Given the description of an element on the screen output the (x, y) to click on. 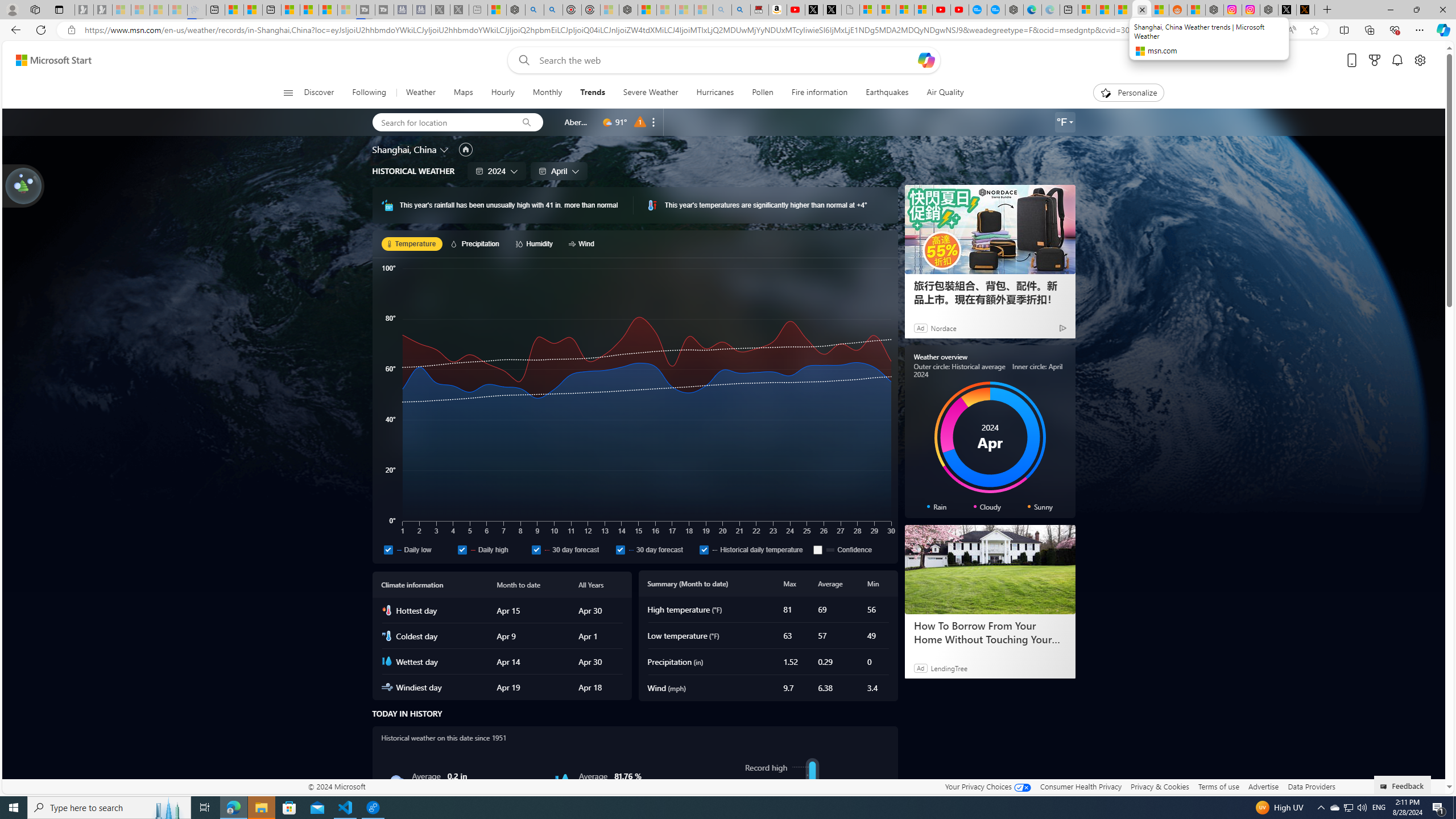
Your Privacy Choices (987, 786)
Nordace - Nordace Siena Is Not An Ordinary Backpack (628, 9)
Pollen (762, 92)
Aberdeen (576, 121)
Weather settings (1064, 122)
help.x.com | 524: A timeout occurred (1305, 9)
Hourly (502, 92)
Remove location (653, 122)
